Given the description of an element on the screen output the (x, y) to click on. 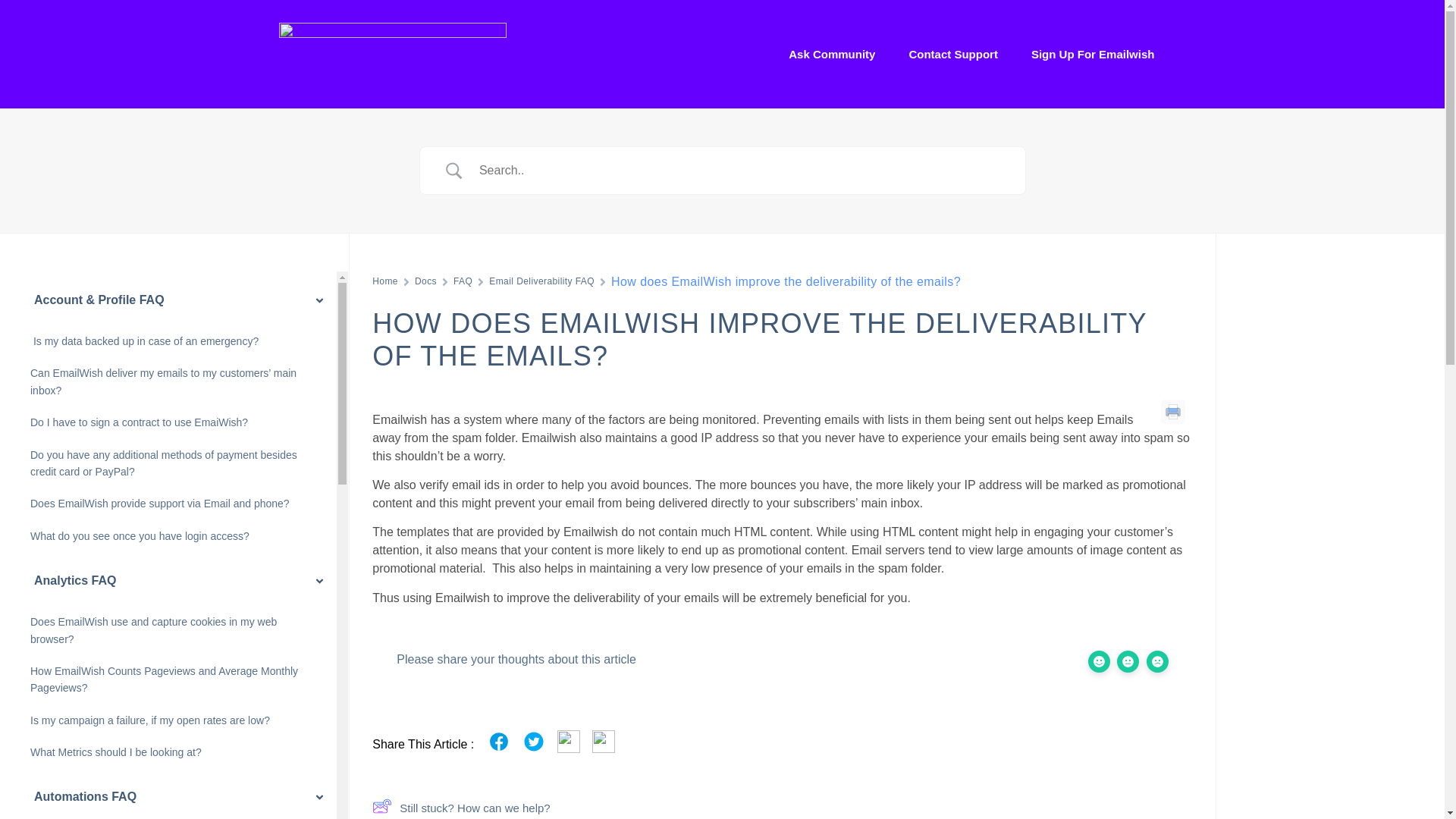
Docs (425, 281)
Ask Community (831, 54)
Do I have to sign a contract to use EmaiWish? (138, 422)
Is my campaign a failure, if my open rates are low? (149, 719)
Does EmailWish provide support via Email and phone? (159, 503)
Does EmailWish use and capture cookies in my web browser? (173, 630)
Home (384, 281)
Contact Support (952, 54)
